Given the description of an element on the screen output the (x, y) to click on. 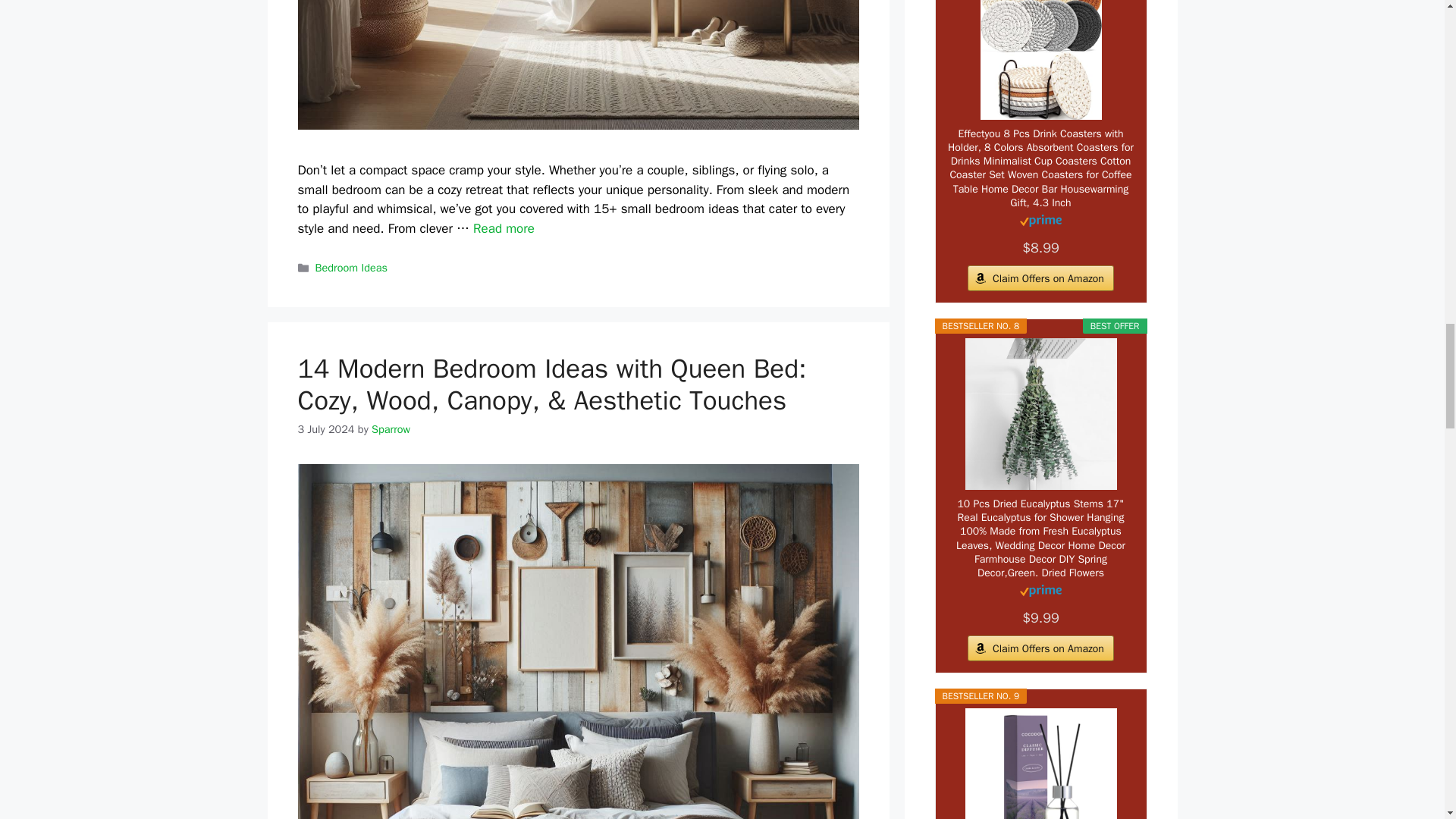
Sparrow (390, 428)
Bedroom Ideas (351, 267)
View all posts by Sparrow (390, 428)
Read more (503, 228)
